Given the description of an element on the screen output the (x, y) to click on. 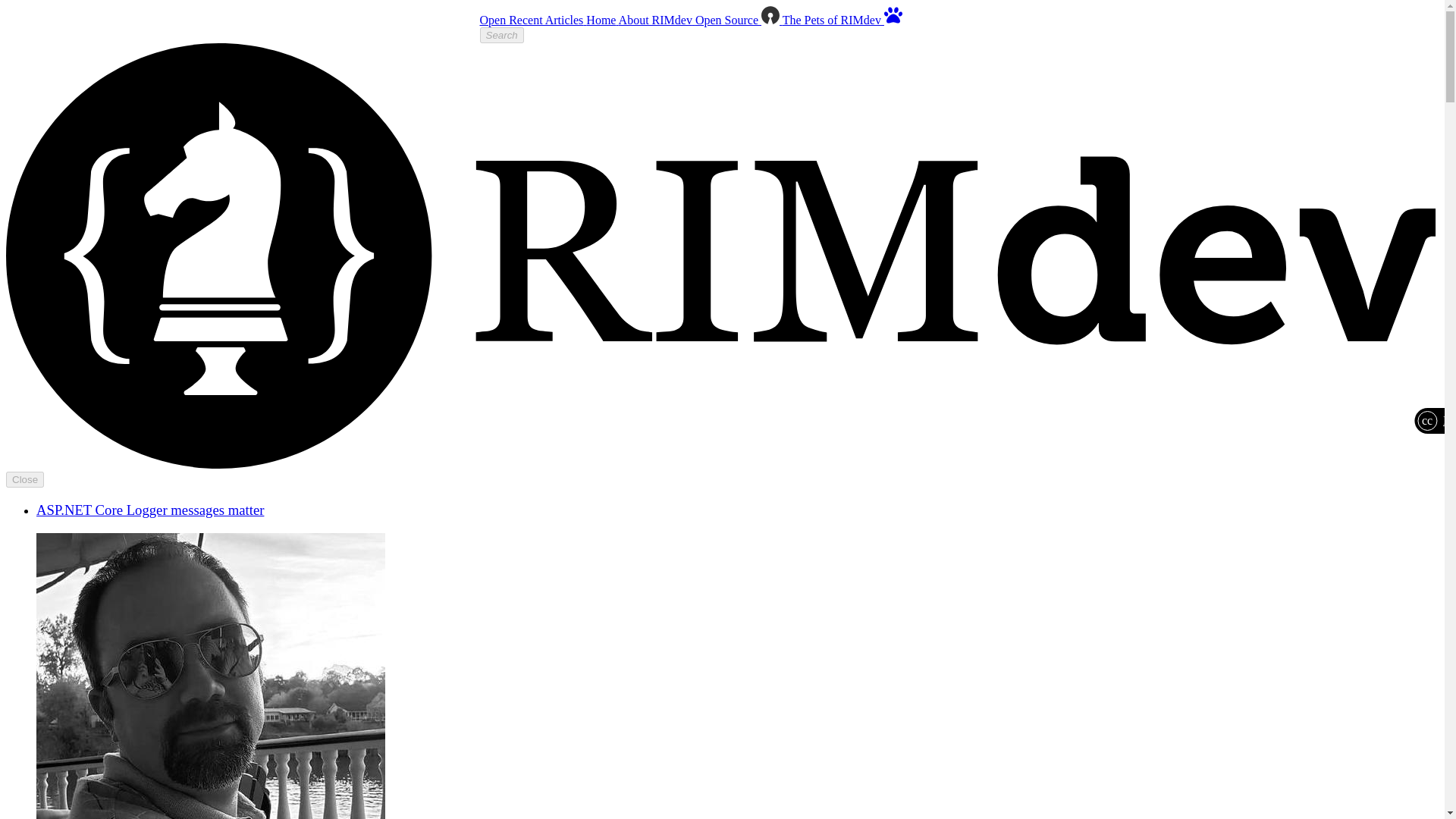
The Pets of RIMdev (842, 19)
Open Source (739, 19)
About RIMdev (656, 19)
ASP.NET Core Logger messages matter (149, 509)
Search (500, 35)
ASP.NET Core Logger messages matter (149, 509)
Close (24, 479)
Home (601, 19)
Open Recent Articles (532, 19)
